Given the description of an element on the screen output the (x, y) to click on. 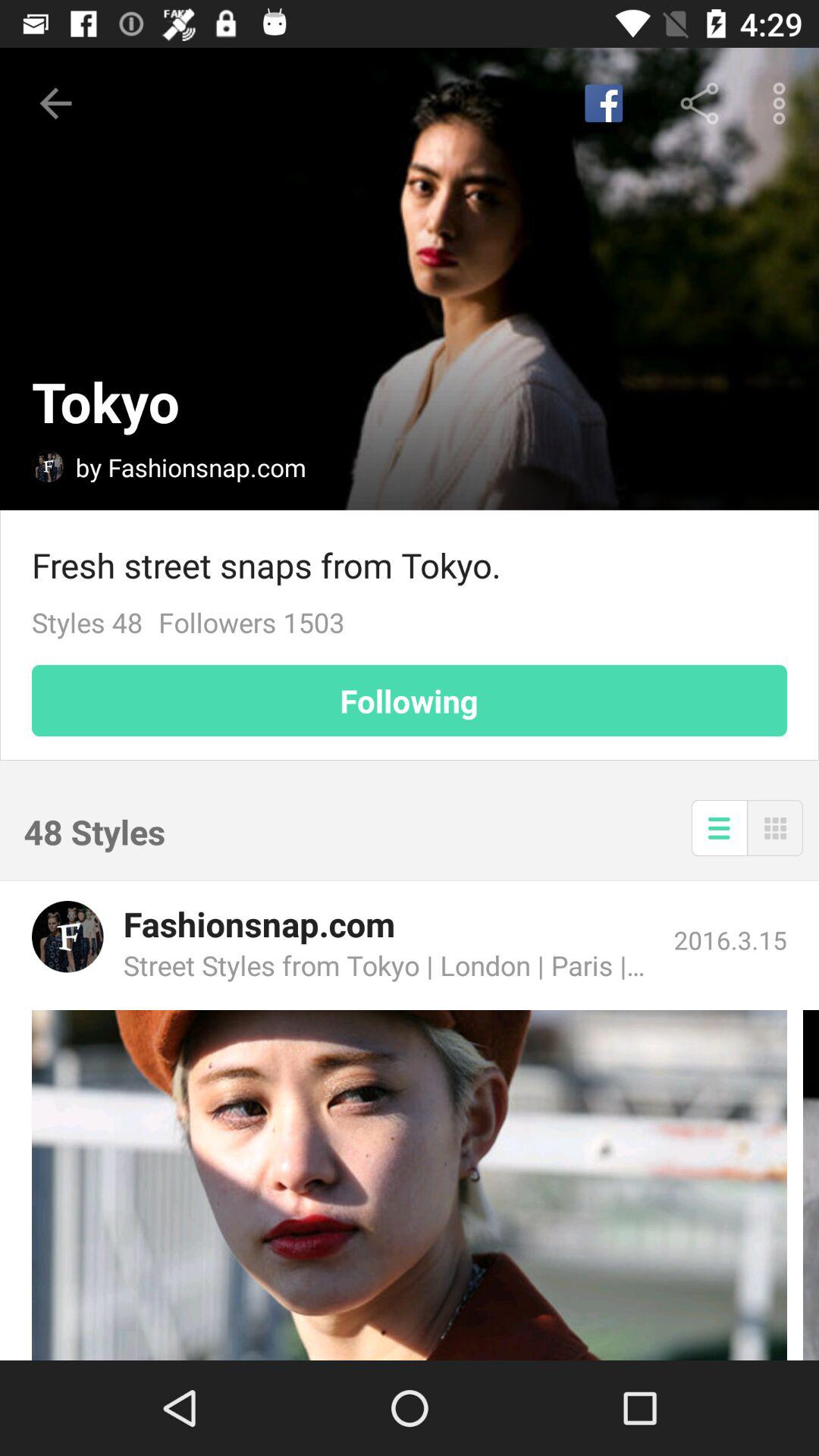
swipe to following icon (409, 700)
